Given the description of an element on the screen output the (x, y) to click on. 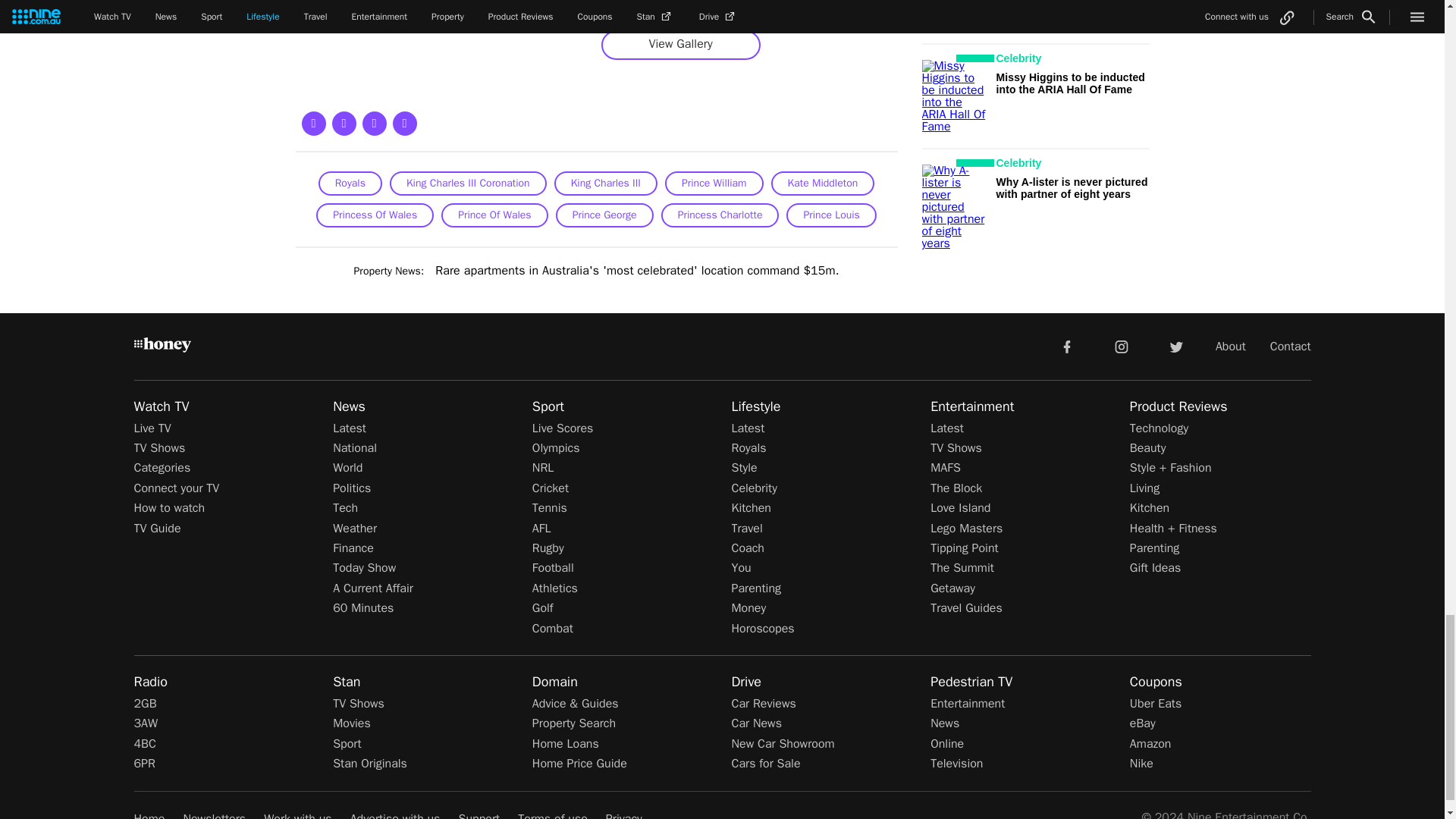
instagram (1121, 345)
facebook (1066, 345)
twitter (1175, 345)
